Given the description of an element on the screen output the (x, y) to click on. 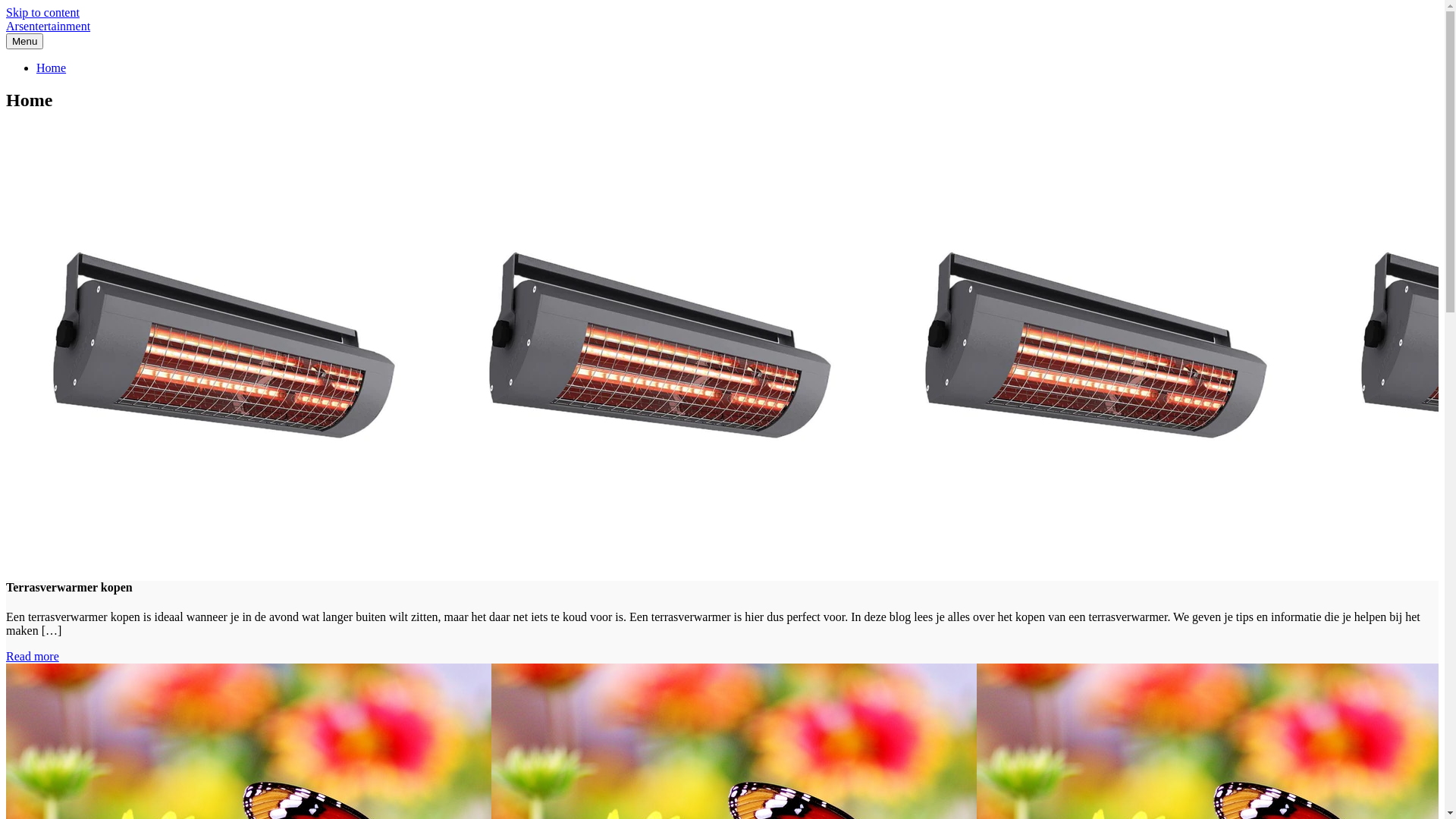
Home Element type: text (50, 67)
Arsentertainment Element type: text (48, 25)
Read more Element type: text (32, 655)
Skip to content Element type: text (42, 12)
Menu Element type: text (24, 41)
